Given the description of an element on the screen output the (x, y) to click on. 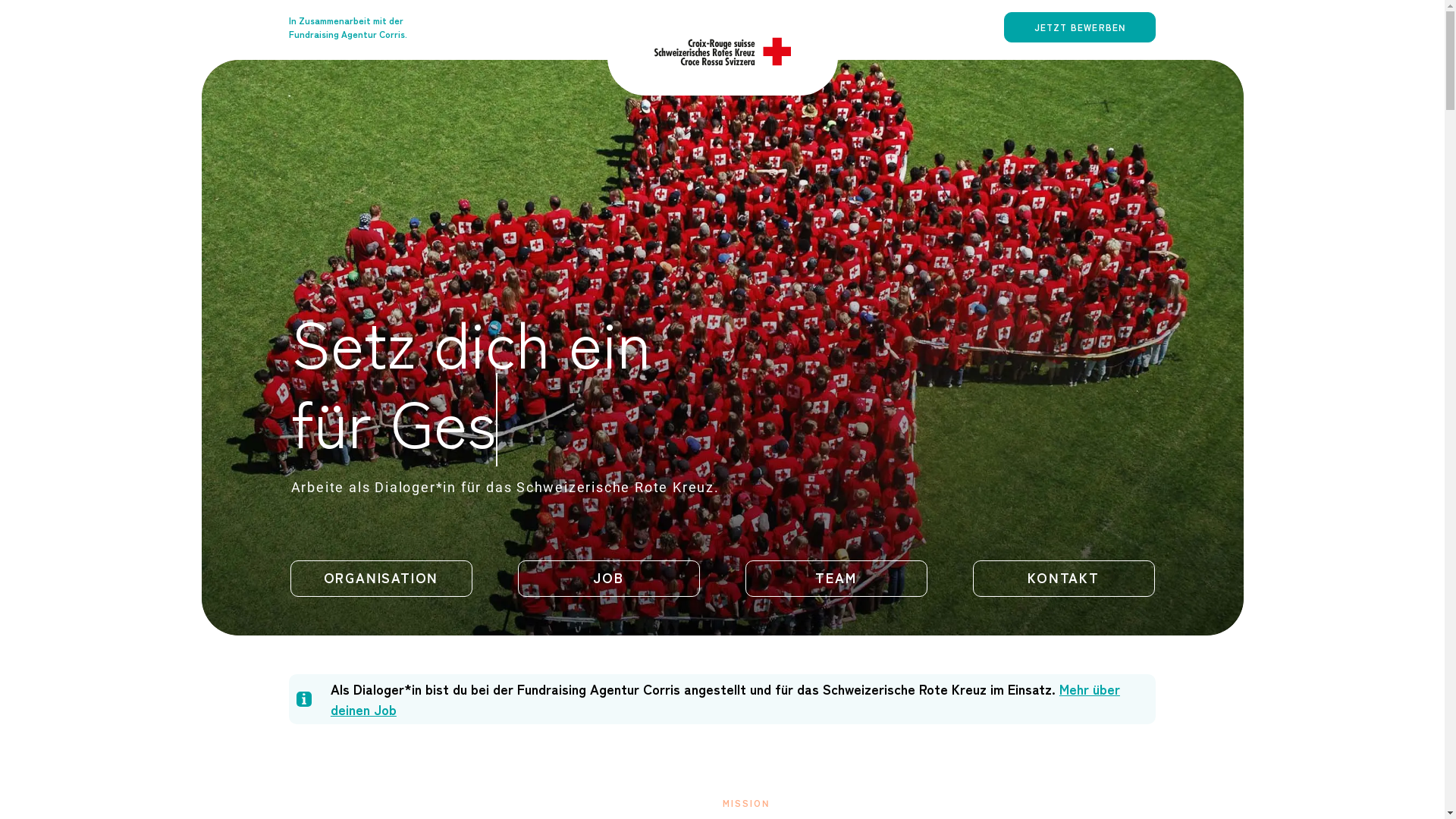
KONTAKT Element type: text (1063, 578)
JOB Element type: text (608, 578)
TEAM Element type: text (835, 578)
JETZT BEWERBEN Element type: text (1079, 27)
ORGANISATION Element type: text (380, 578)
